Given the description of an element on the screen output the (x, y) to click on. 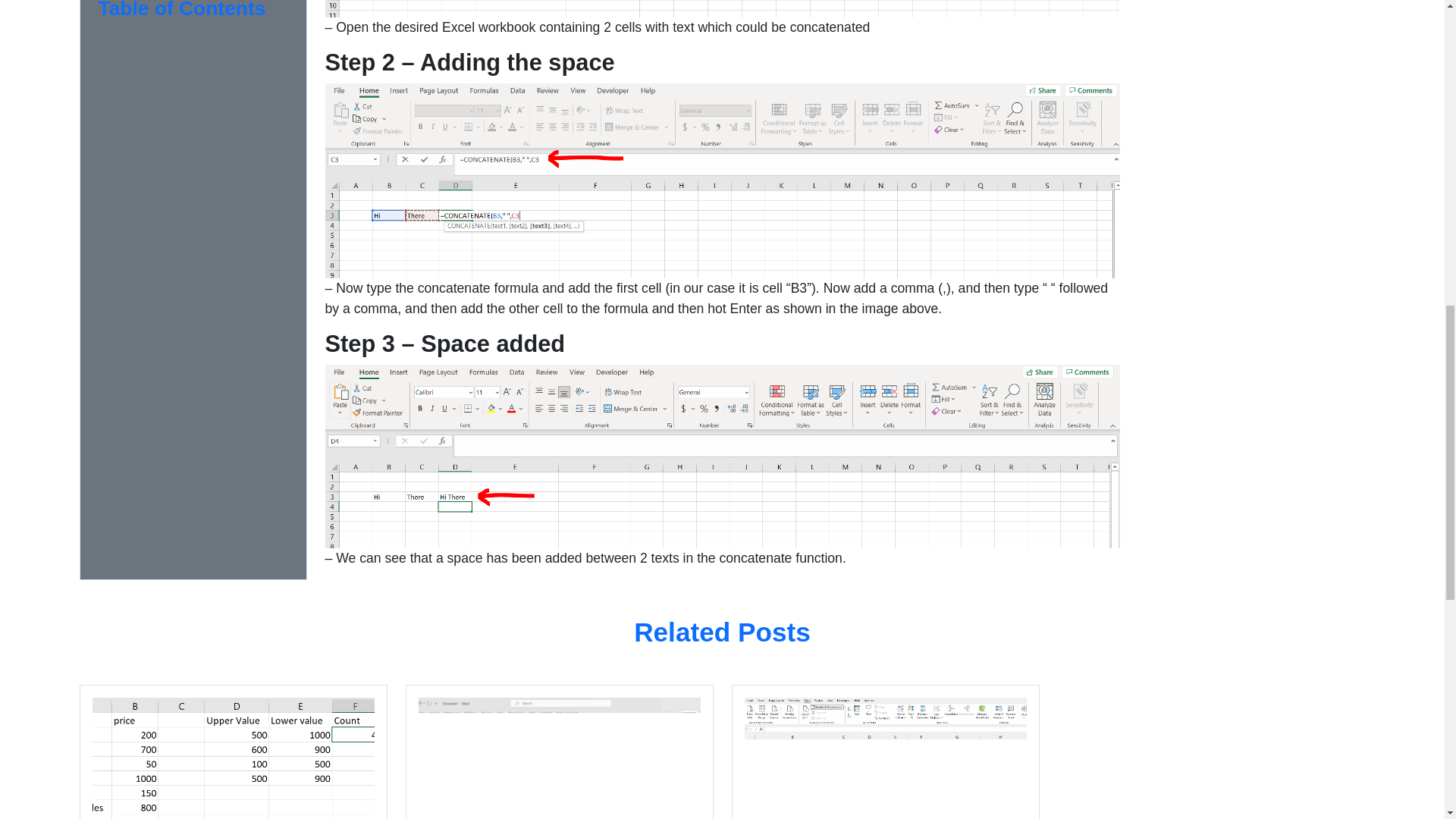
How to transfer data from Microsoft Excel to Microsoft Word (558, 751)
How to count a range of numbers in Excel (232, 751)
How to scrape data from a website into Excel (884, 751)
